Given the description of an element on the screen output the (x, y) to click on. 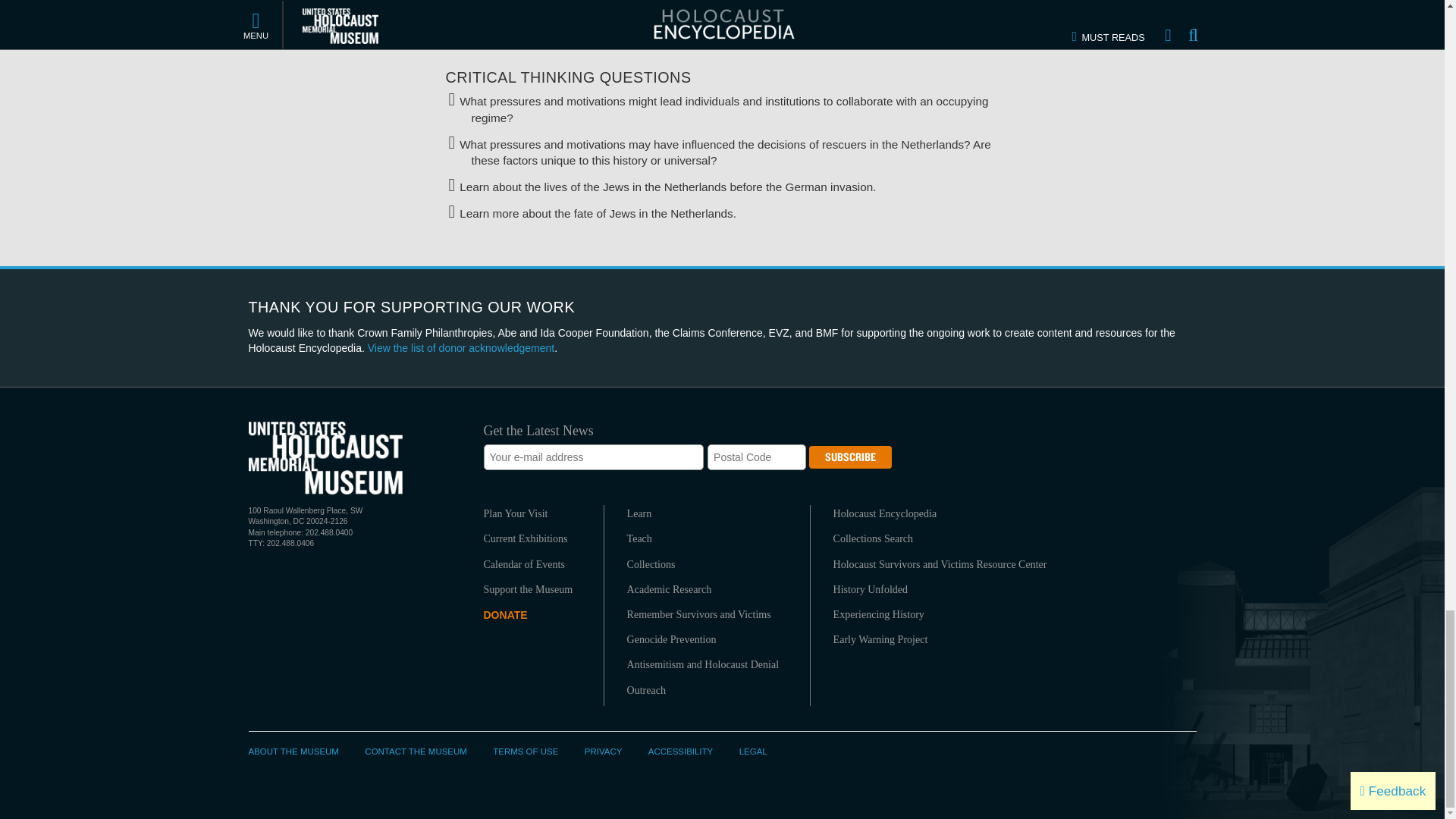
Subscribe (850, 456)
